Given the description of an element on the screen output the (x, y) to click on. 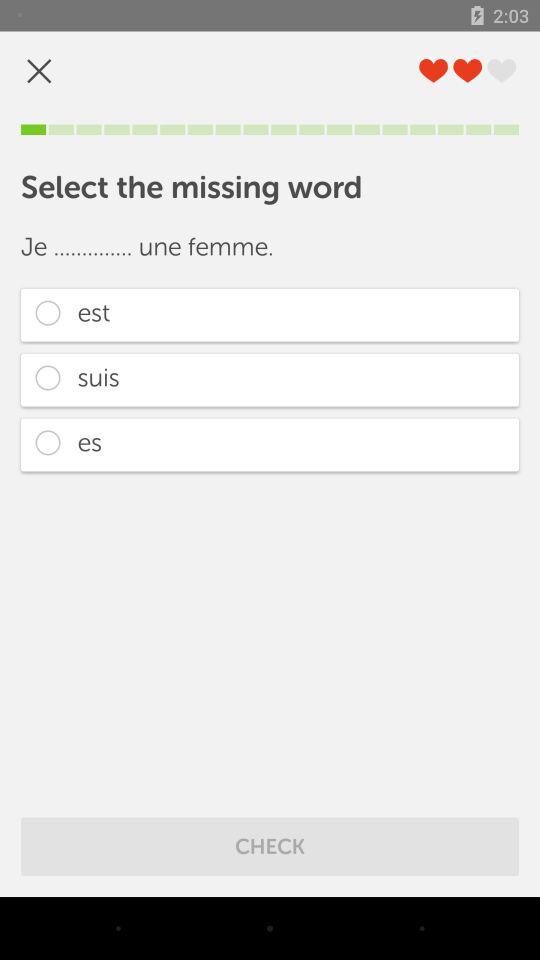
click the close tap (39, 70)
